Given the description of an element on the screen output the (x, y) to click on. 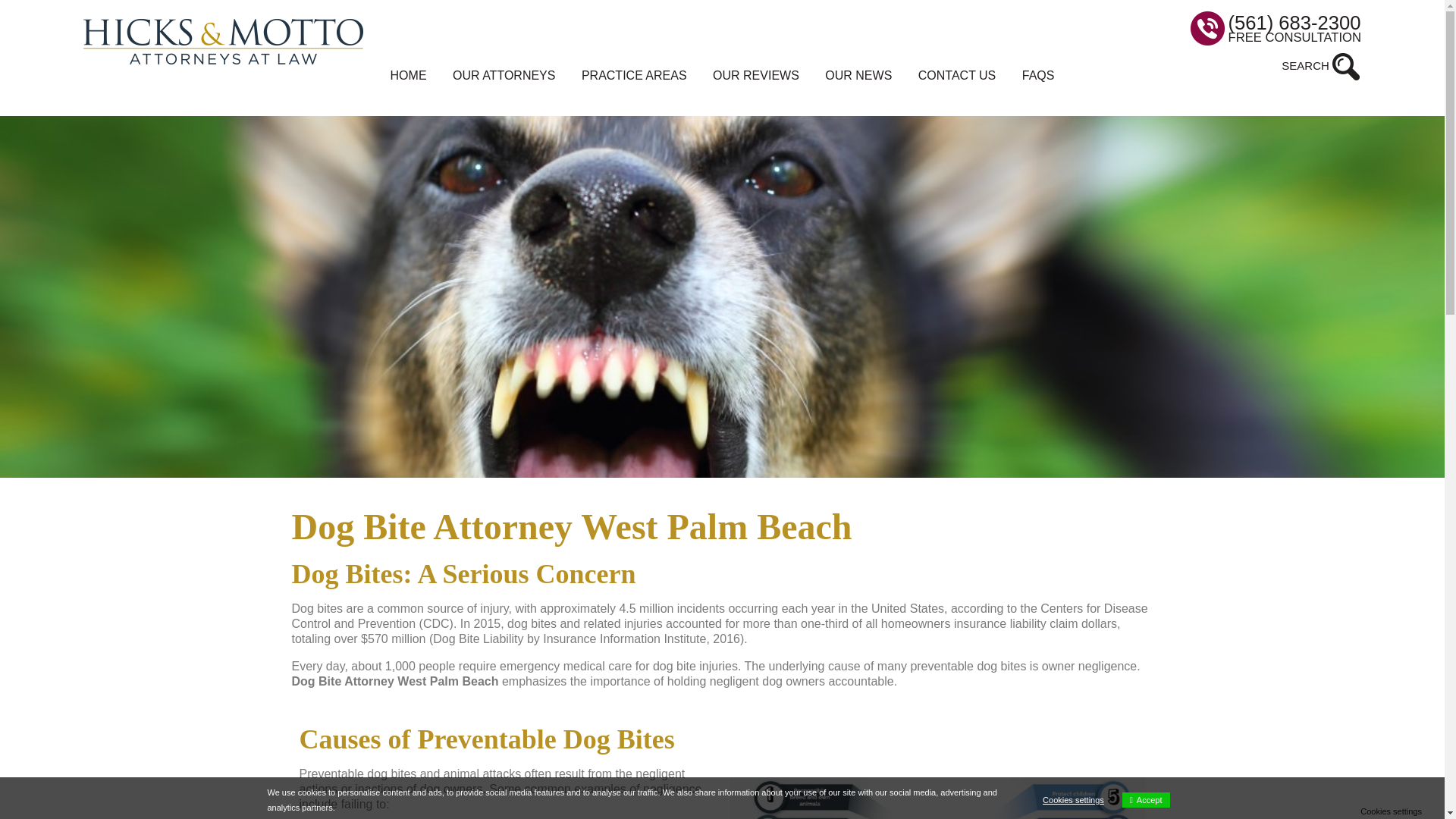
OUR REVIEWS (756, 75)
PRACTICE AREAS (633, 75)
CONTACT US (956, 75)
FAQS (1038, 75)
OUR NEWS (858, 75)
OUR ATTORNEYS (503, 75)
SEARCH (1321, 66)
HOME (408, 75)
